Given the description of an element on the screen output the (x, y) to click on. 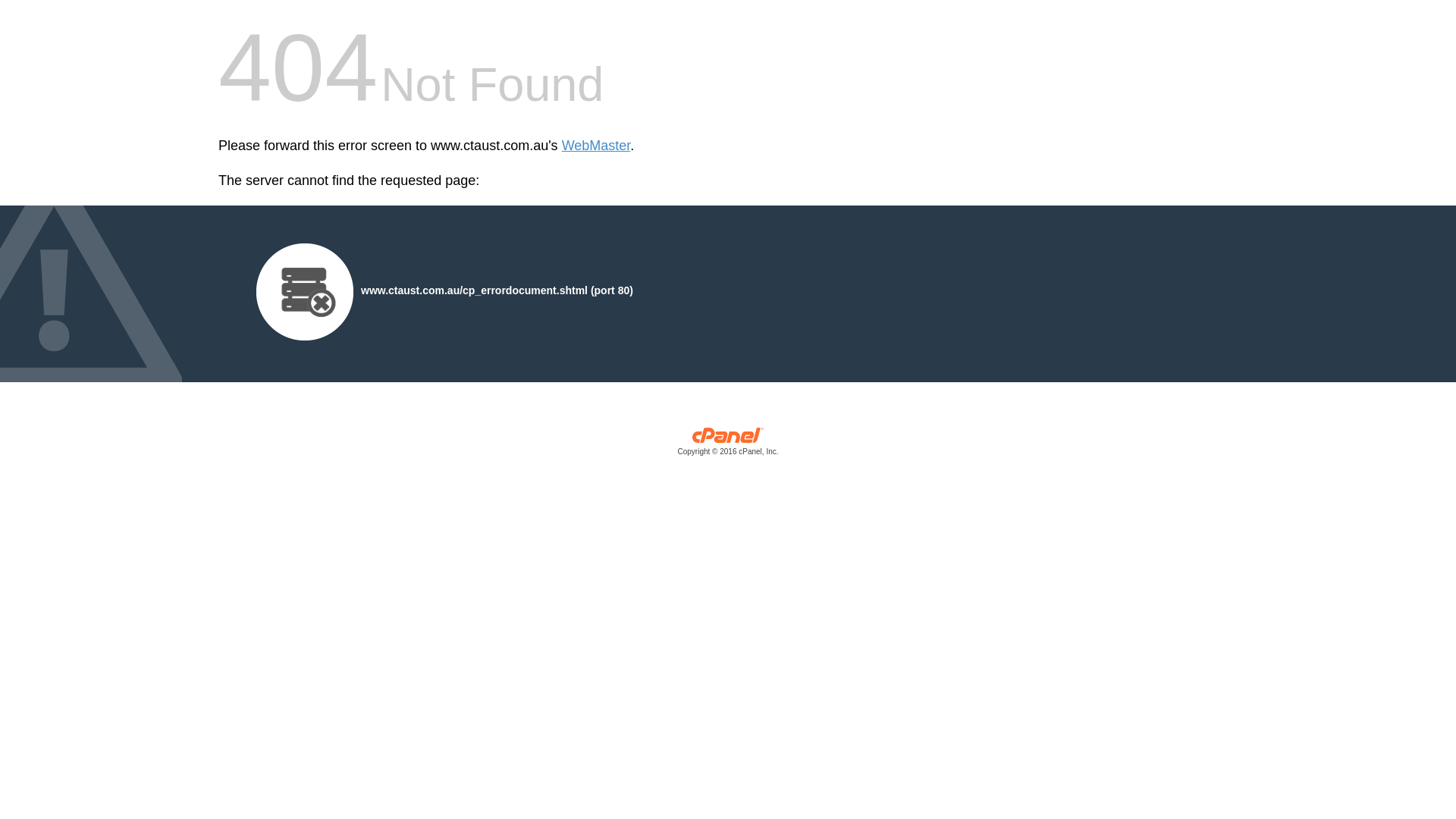
WebMaster Element type: text (595, 145)
